Given the description of an element on the screen output the (x, y) to click on. 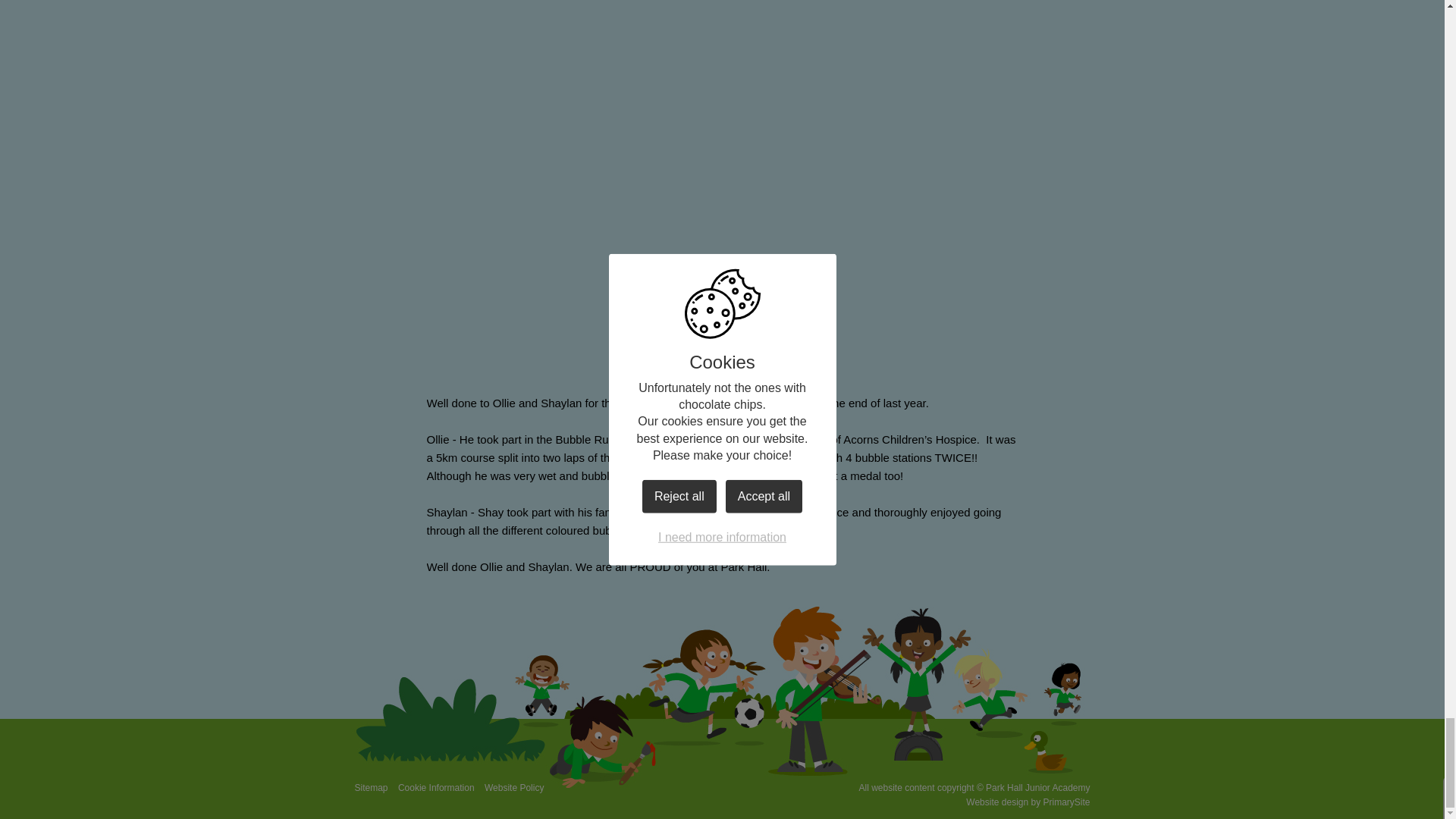
View large version of image (570, 74)
View large version of image (873, 74)
View large version of image (570, 270)
View large version of image (873, 270)
